Given the description of an element on the screen output the (x, y) to click on. 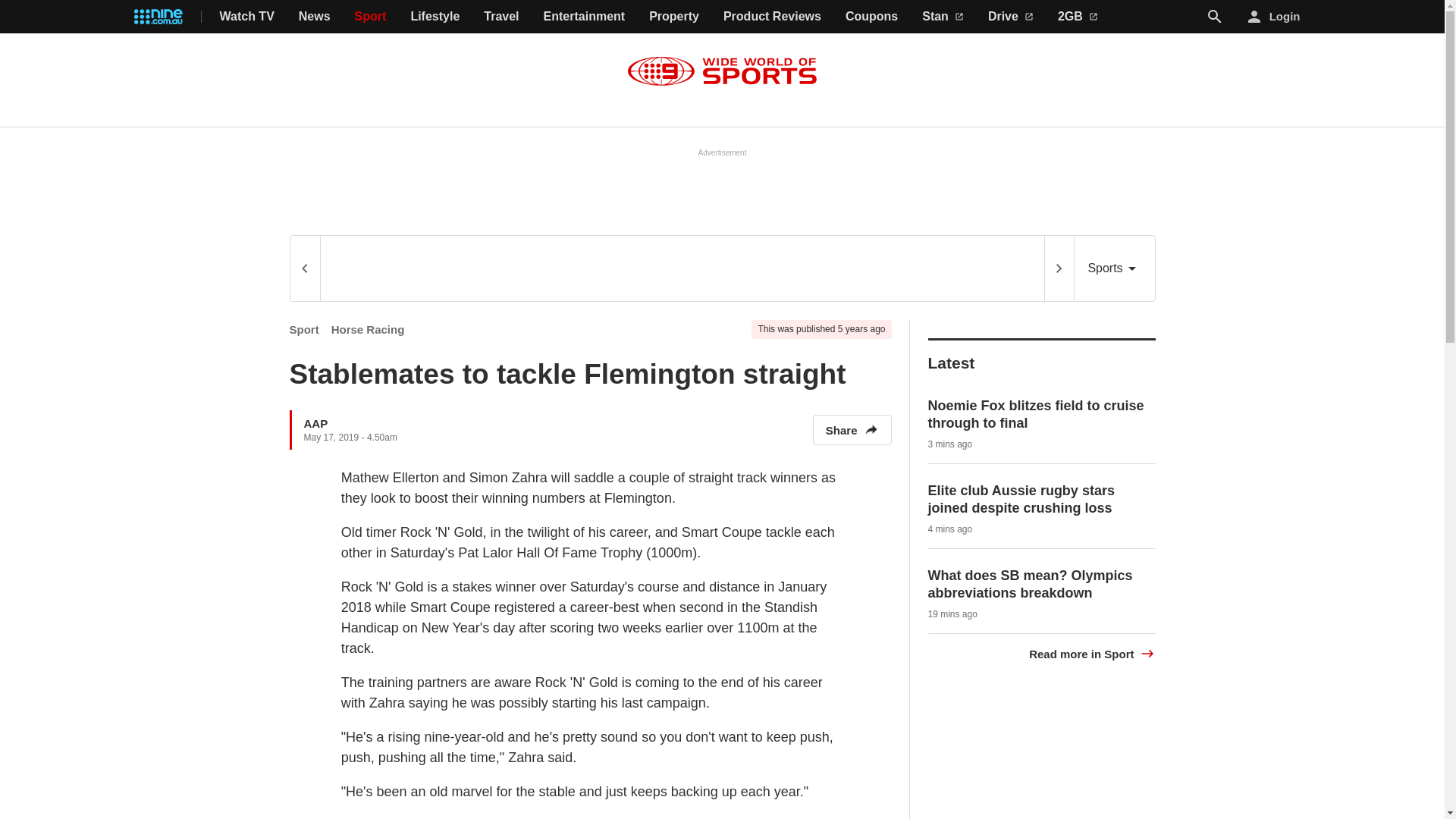
Property (673, 16)
Watch TV (247, 16)
Search (1214, 16)
Coupons (871, 16)
What does SB mean? Olympics abbreviations breakdown (1030, 584)
Drive (1010, 16)
News (314, 16)
Noemie Fox blitzes field to cruise through to final (1036, 414)
Sports (1114, 268)
Login (1273, 16)
Elite club Aussie rugby stars joined despite crushing loss (1021, 499)
2GB (1077, 16)
Read more in Sport (1091, 653)
Search (1214, 16)
Share (851, 429)
